Given the description of an element on the screen output the (x, y) to click on. 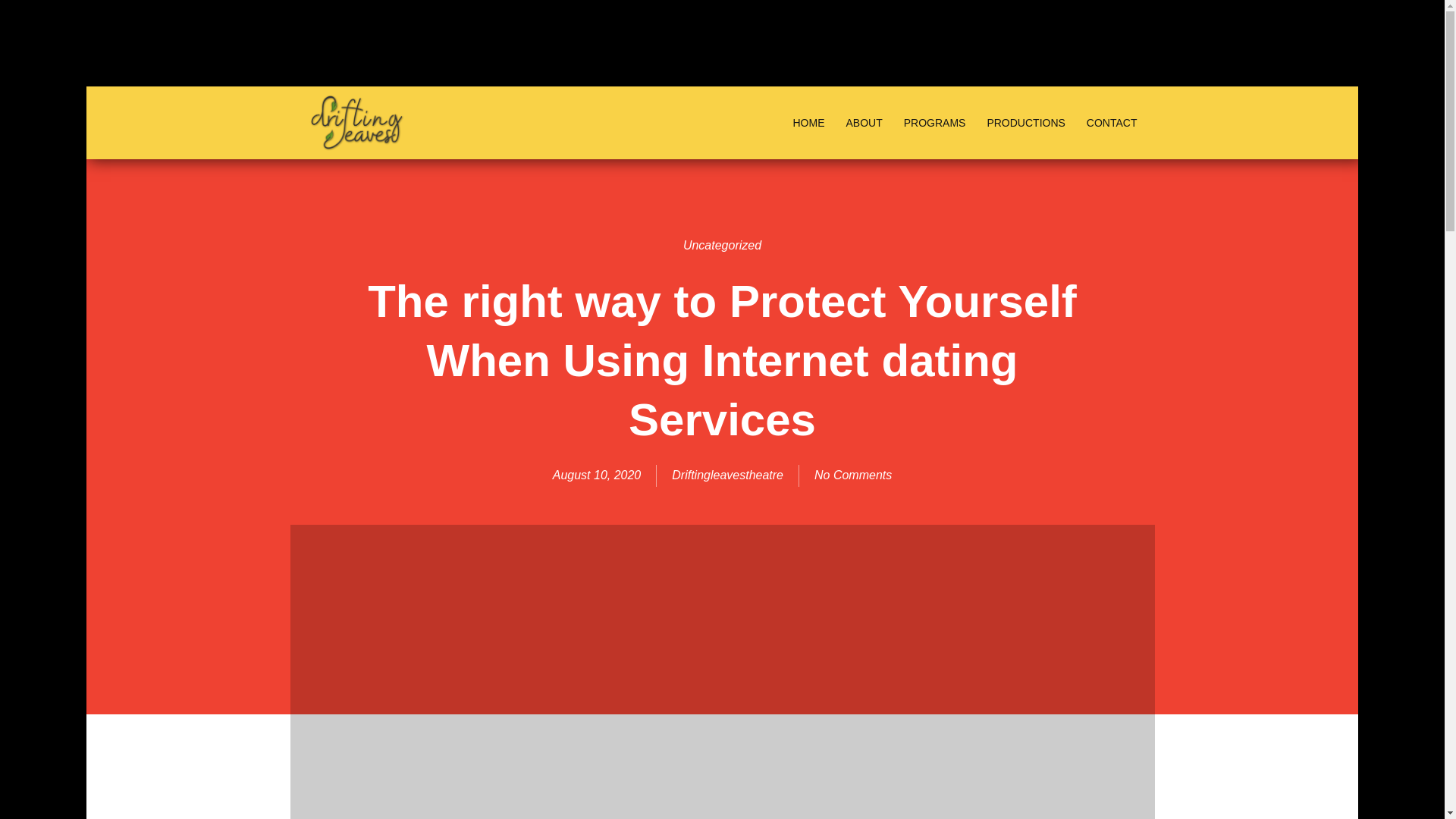
ABOUT (863, 122)
August 10, 2020 (597, 475)
PROGRAMS (934, 122)
Uncategorized (721, 245)
HOME (808, 122)
Driftingleavestheatre (727, 475)
CONTACT (1112, 122)
No Comments (852, 475)
PRODUCTIONS (1025, 122)
